Given the description of an element on the screen output the (x, y) to click on. 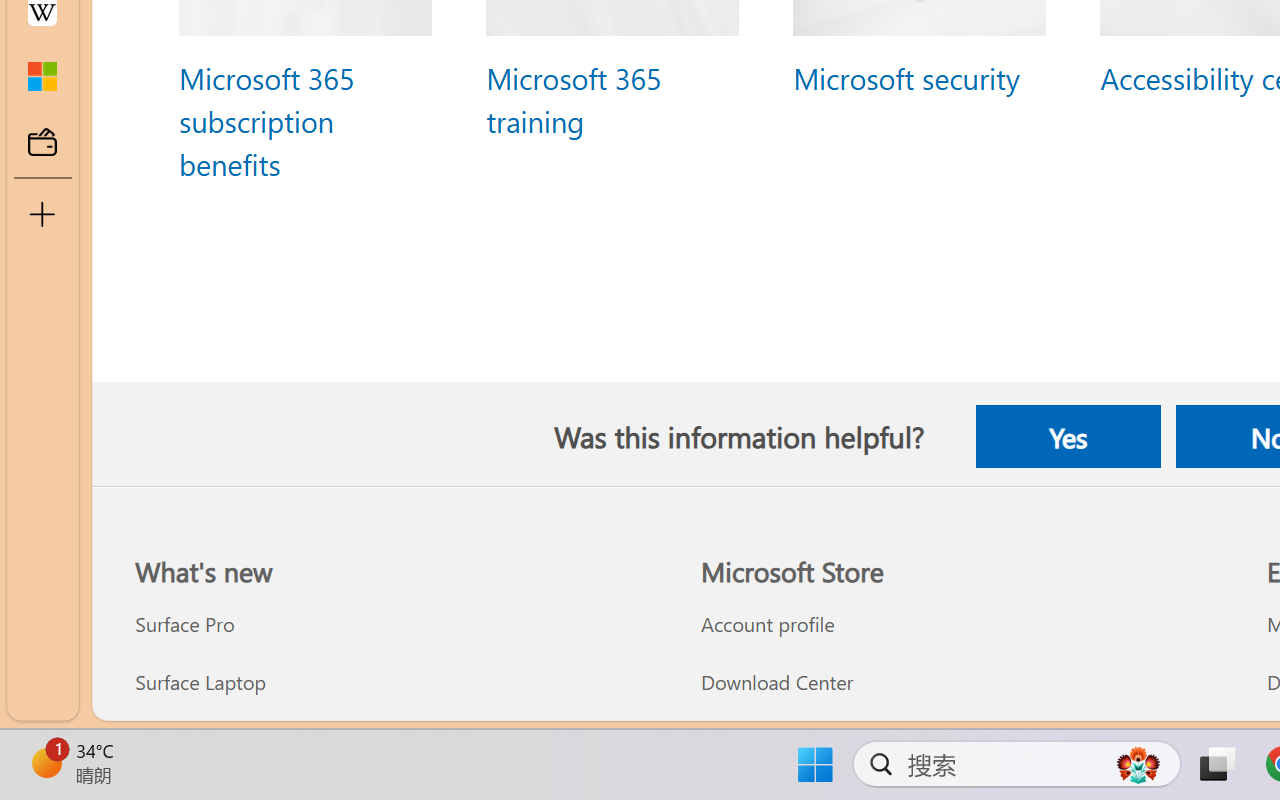
Surface Laptop Studio 2 (395, 739)
Surface Laptop What's new (199, 681)
Microsoft 365 subscription benefits (265, 120)
Account profile (961, 624)
